Given the description of an element on the screen output the (x, y) to click on. 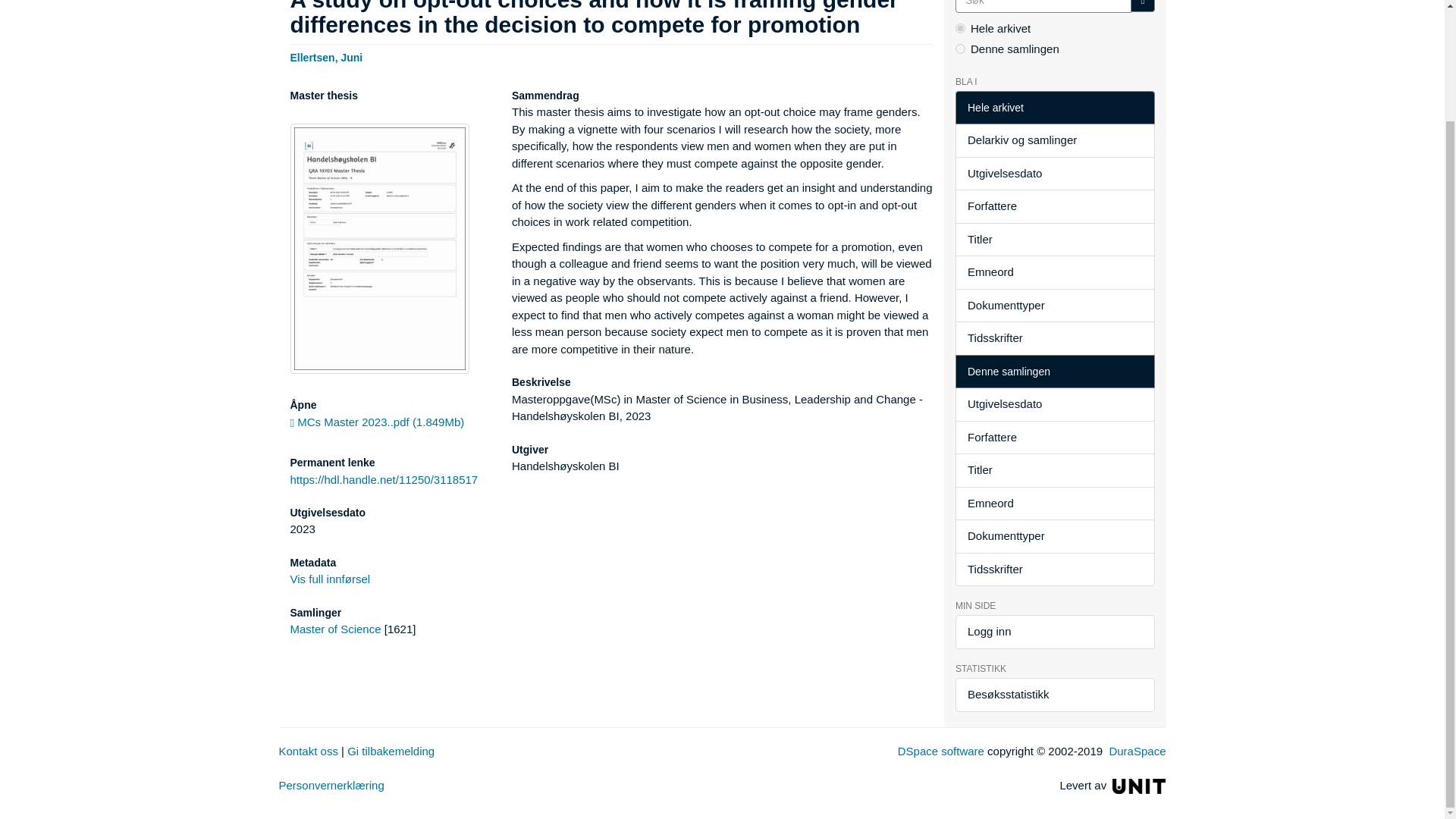
Delarkiv og samlinger (1054, 140)
Titler (1054, 239)
Emneord (1054, 272)
Utgivelsesdato (1054, 173)
Hele arkivet (1054, 107)
Master of Science (334, 628)
Forfattere (1054, 206)
Unit (1139, 784)
Ellertsen, Juni (325, 56)
